Given the description of an element on the screen output the (x, y) to click on. 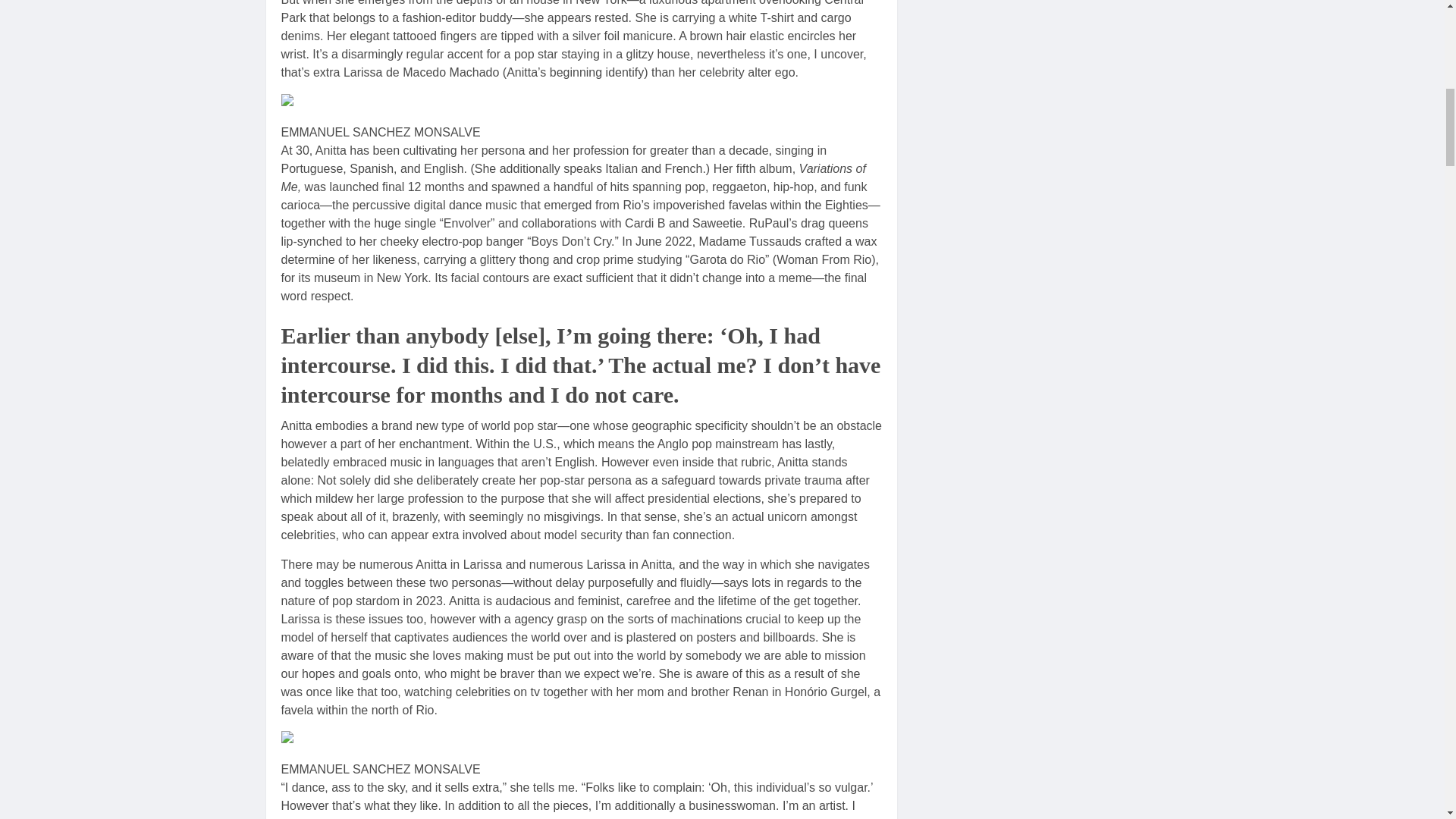
anitta june july 2023 cover (357, 740)
anitta june july 2023 cover (357, 103)
